Given the description of an element on the screen output the (x, y) to click on. 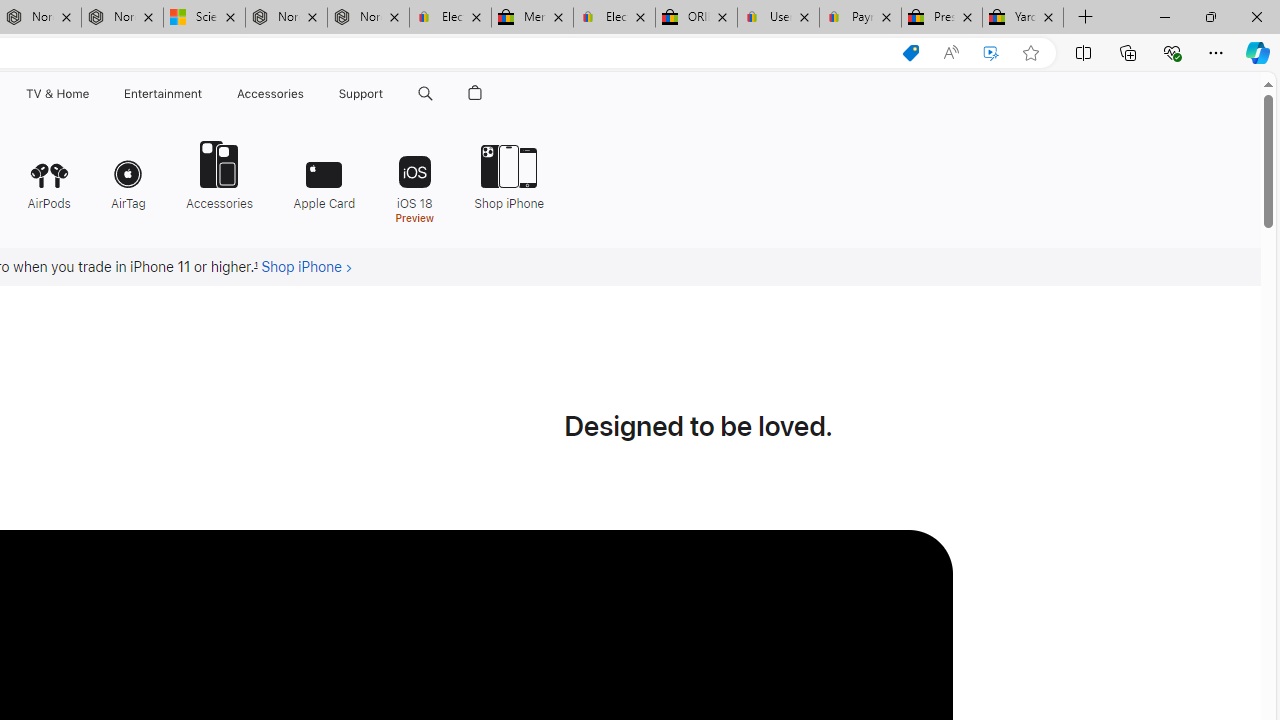
Support (361, 93)
Accessories menu (306, 93)
Footnote 1 (255, 267)
Support menu (387, 93)
User Privacy Notice | eBay (778, 17)
Accessories (219, 173)
Class: globalnav-submenu-trigger-item (387, 93)
Nordace - FAQ (368, 17)
Support (361, 93)
